Given the description of an element on the screen output the (x, y) to click on. 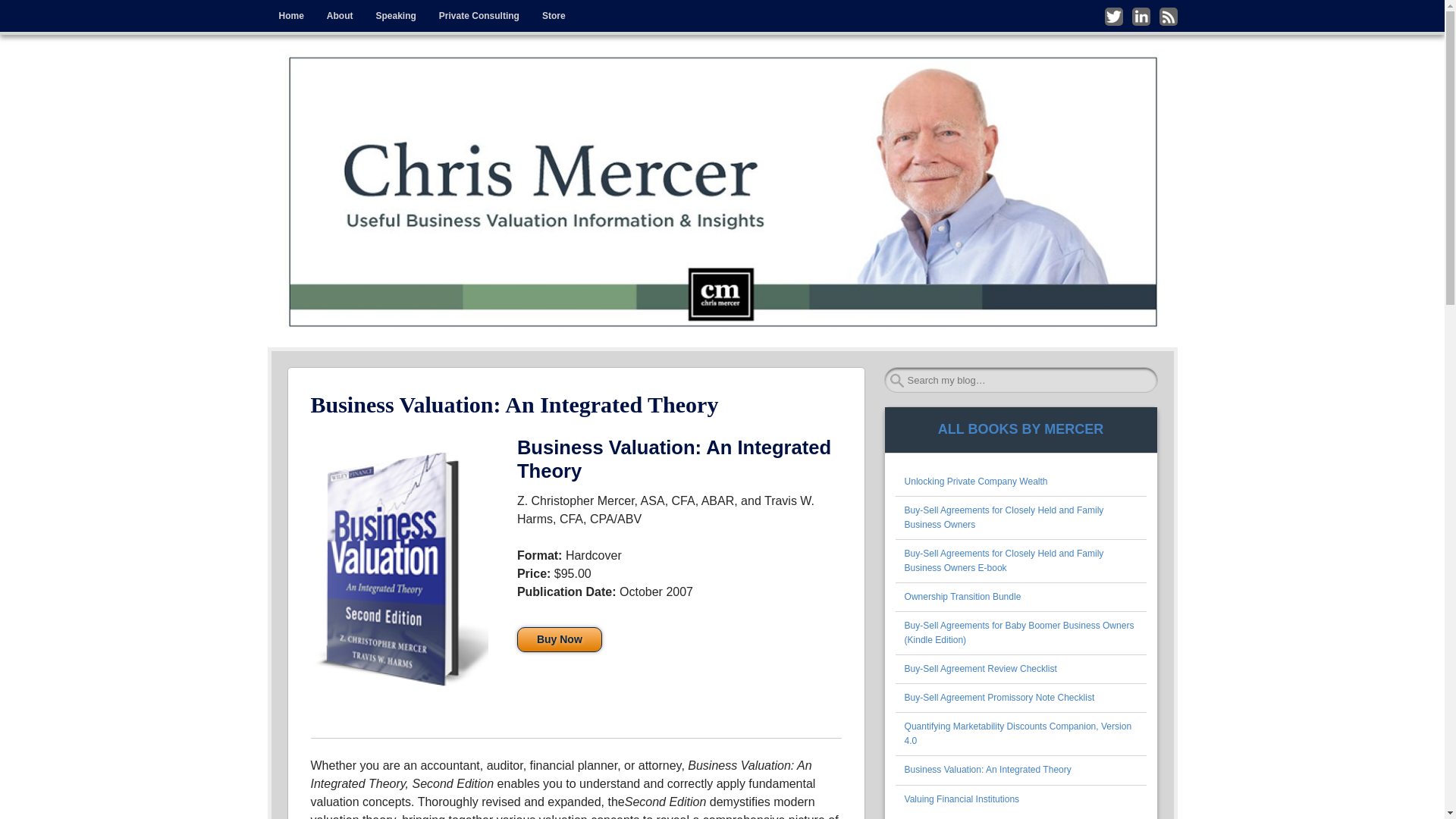
Store (553, 15)
Connect with me on LinkedIn (1140, 16)
Private Consulting (479, 15)
Buy-Sell Agreement Promissory Note Checklist (999, 697)
Business Valuation: An Integrated Theory (987, 769)
Ownership Transition Bundle (963, 596)
About (340, 15)
Subscribe to my RSS Feed (1167, 16)
